Given the description of an element on the screen output the (x, y) to click on. 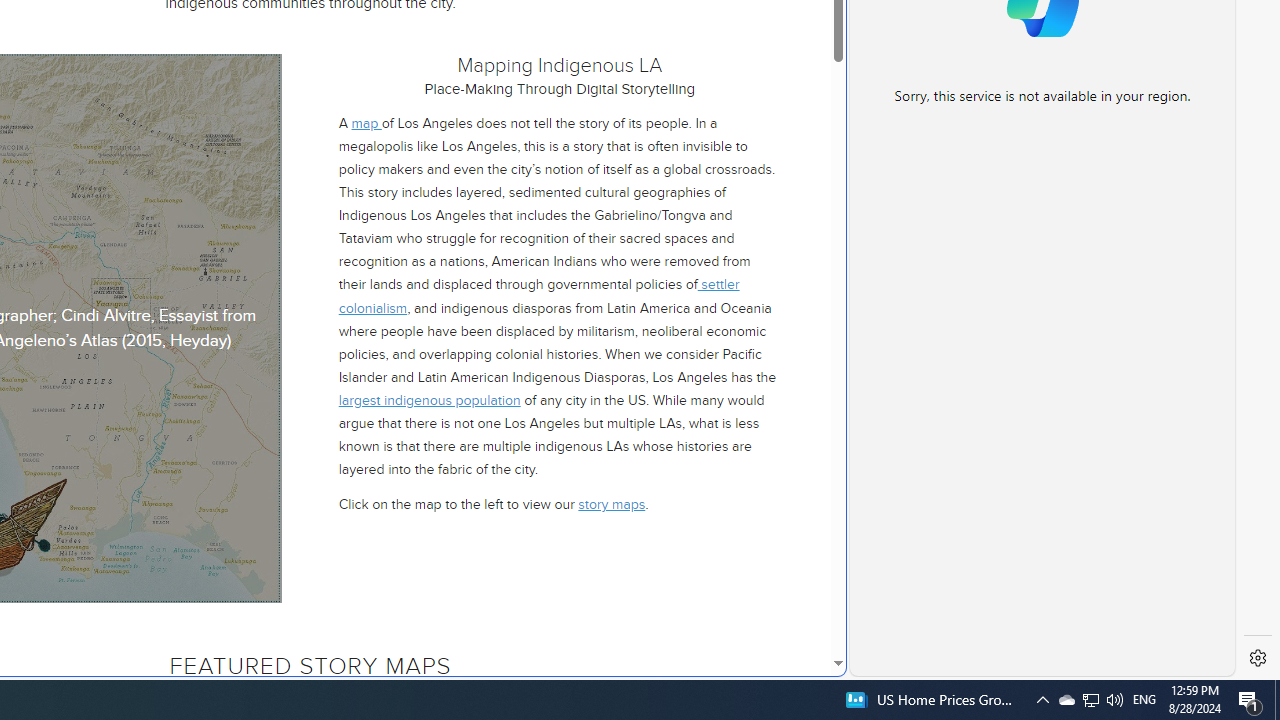
story maps (612, 504)
largest indigenous population (428, 399)
 settler colonialism (538, 296)
map  (365, 123)
